Given the description of an element on the screen output the (x, y) to click on. 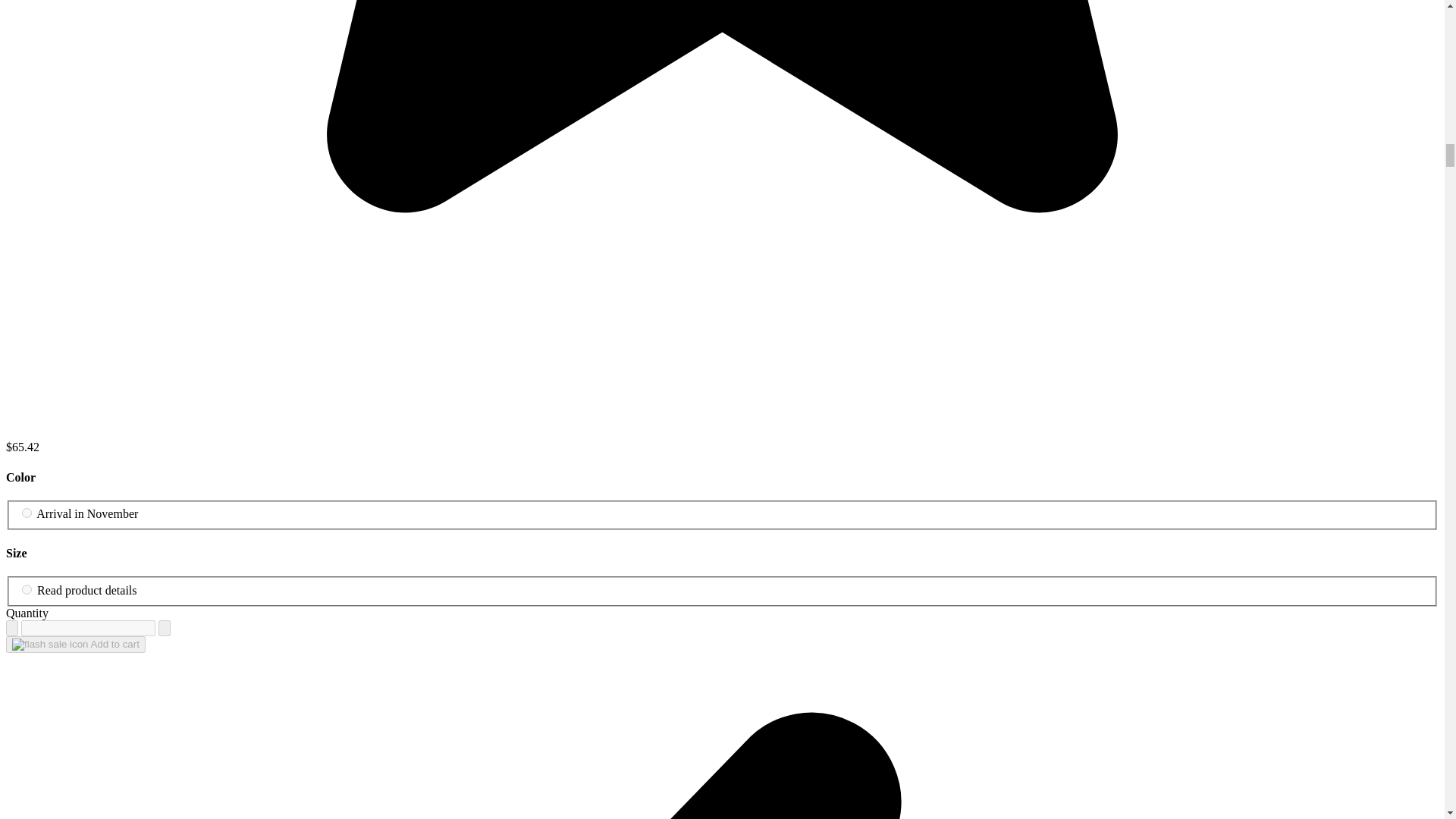
628 (26, 589)
Add to cart (75, 644)
627 (26, 512)
